Given the description of an element on the screen output the (x, y) to click on. 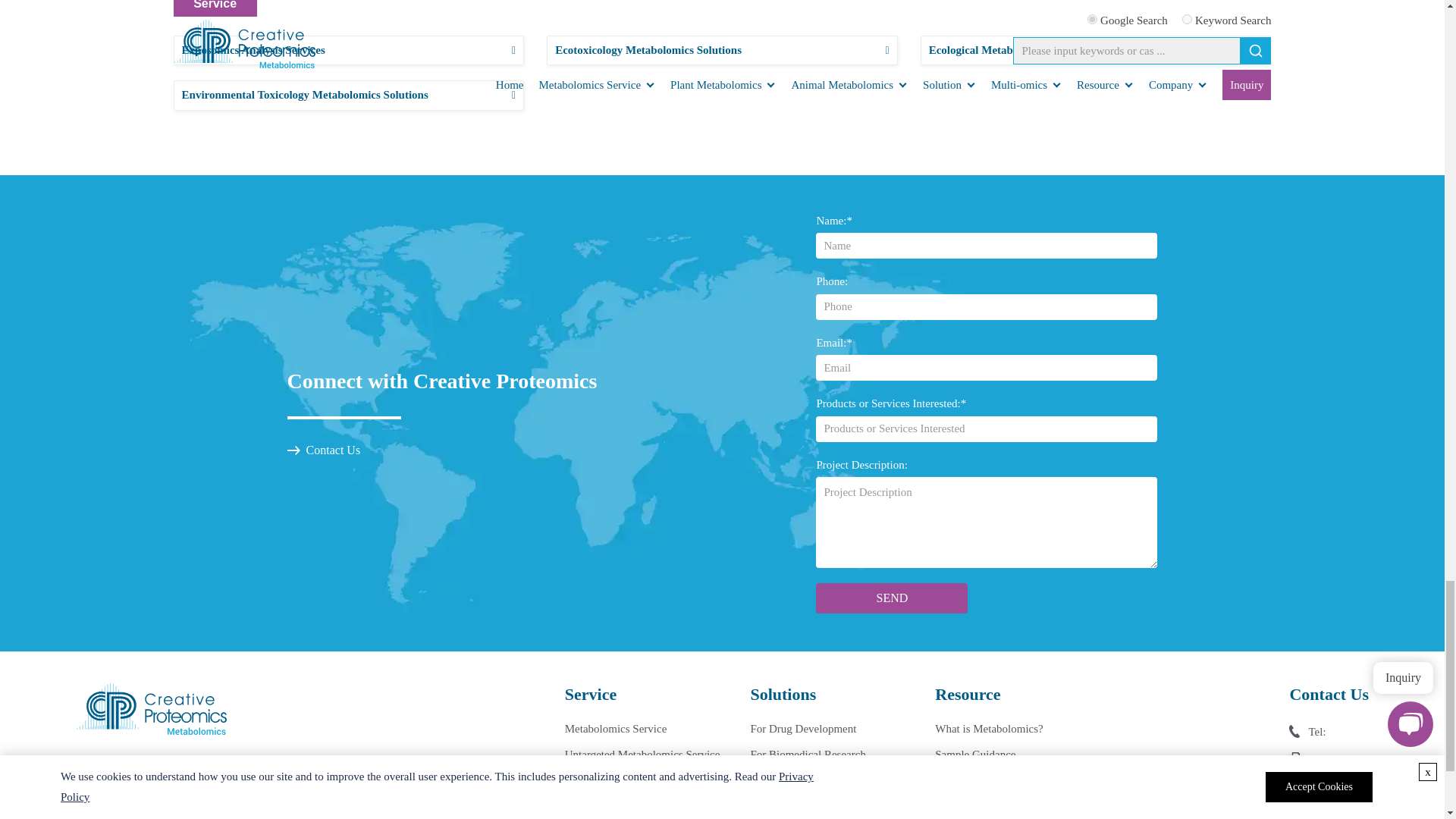
SEND (891, 598)
